Given the description of an element on the screen output the (x, y) to click on. 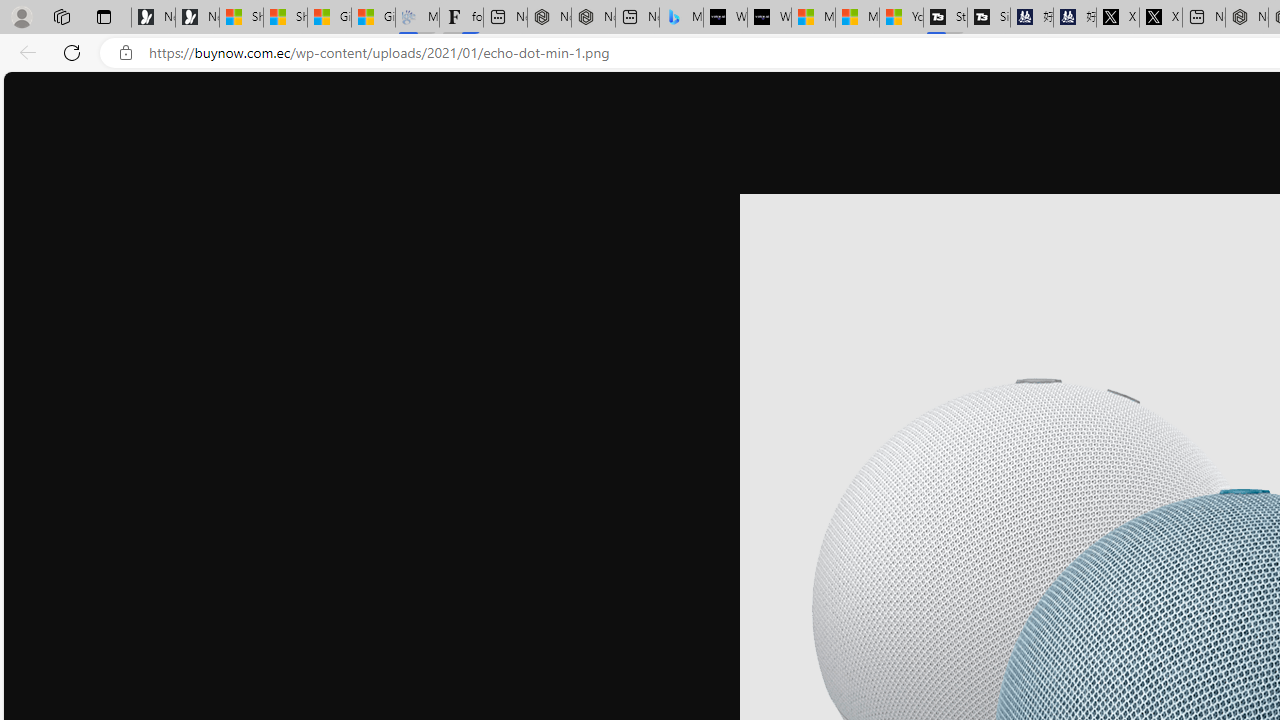
Streaming Coverage | T3 (945, 17)
Newsletter Sign Up (196, 17)
Microsoft Bing Travel - Shangri-La Hotel Bangkok (681, 17)
Gilma and Hector both pose tropical trouble for Hawaii (373, 17)
